Given the description of an element on the screen output the (x, y) to click on. 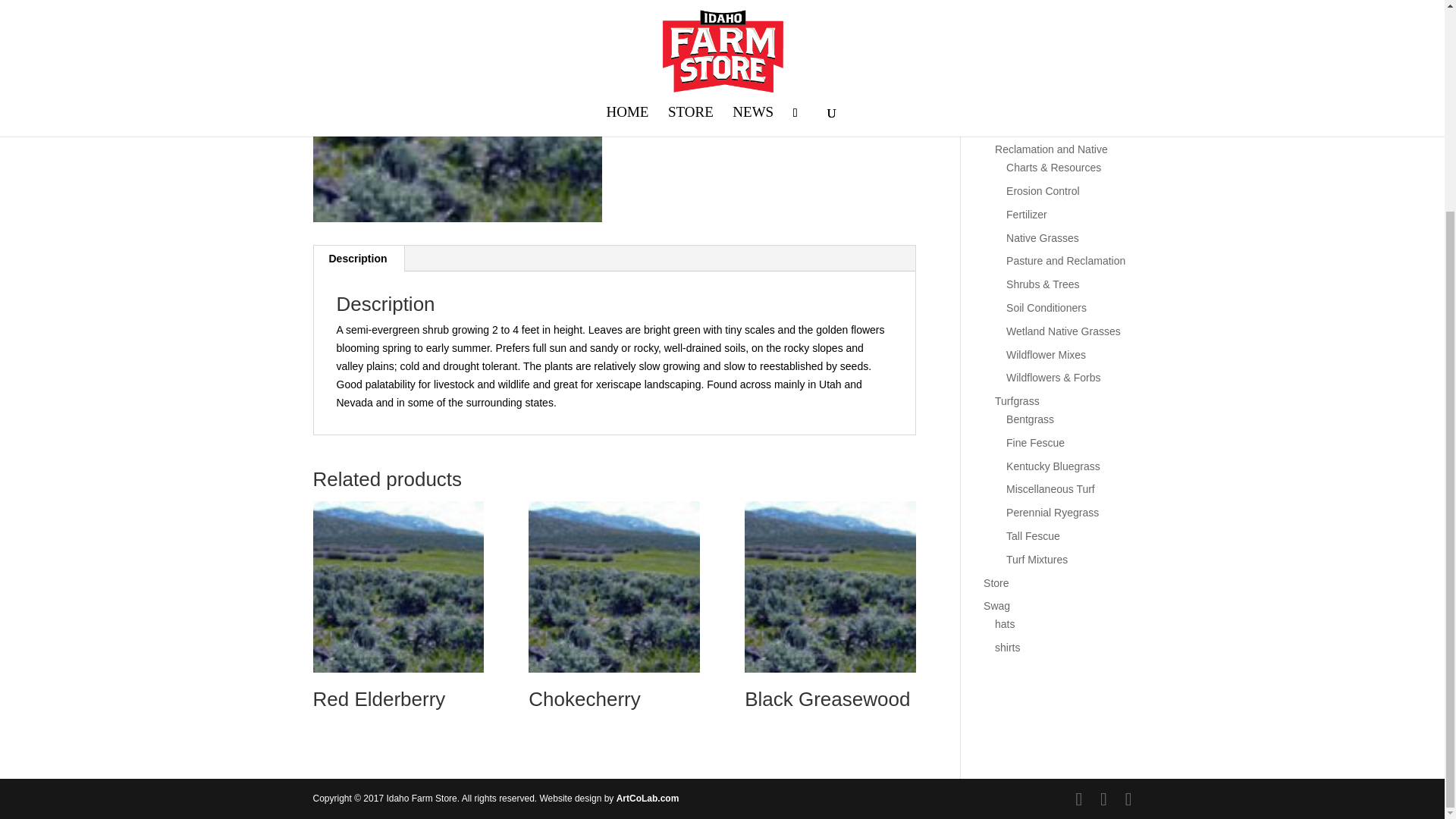
Pasture and Reclamation (1065, 260)
Description (358, 258)
Native Grasses (1042, 237)
Farm and Ag (1024, 15)
Erosion Control (1043, 191)
Wetland Native Grasses (1063, 331)
Soil Conditioners (1046, 307)
Grain Seed (1032, 79)
Brassica Seed (1040, 55)
Seed (996, 1)
Summer Annuals (1046, 126)
Fertilizer (1026, 214)
Bentgrass (1030, 419)
Reclamation and Native (1051, 149)
Wildflower Mixes (1046, 354)
